Given the description of an element on the screen output the (x, y) to click on. 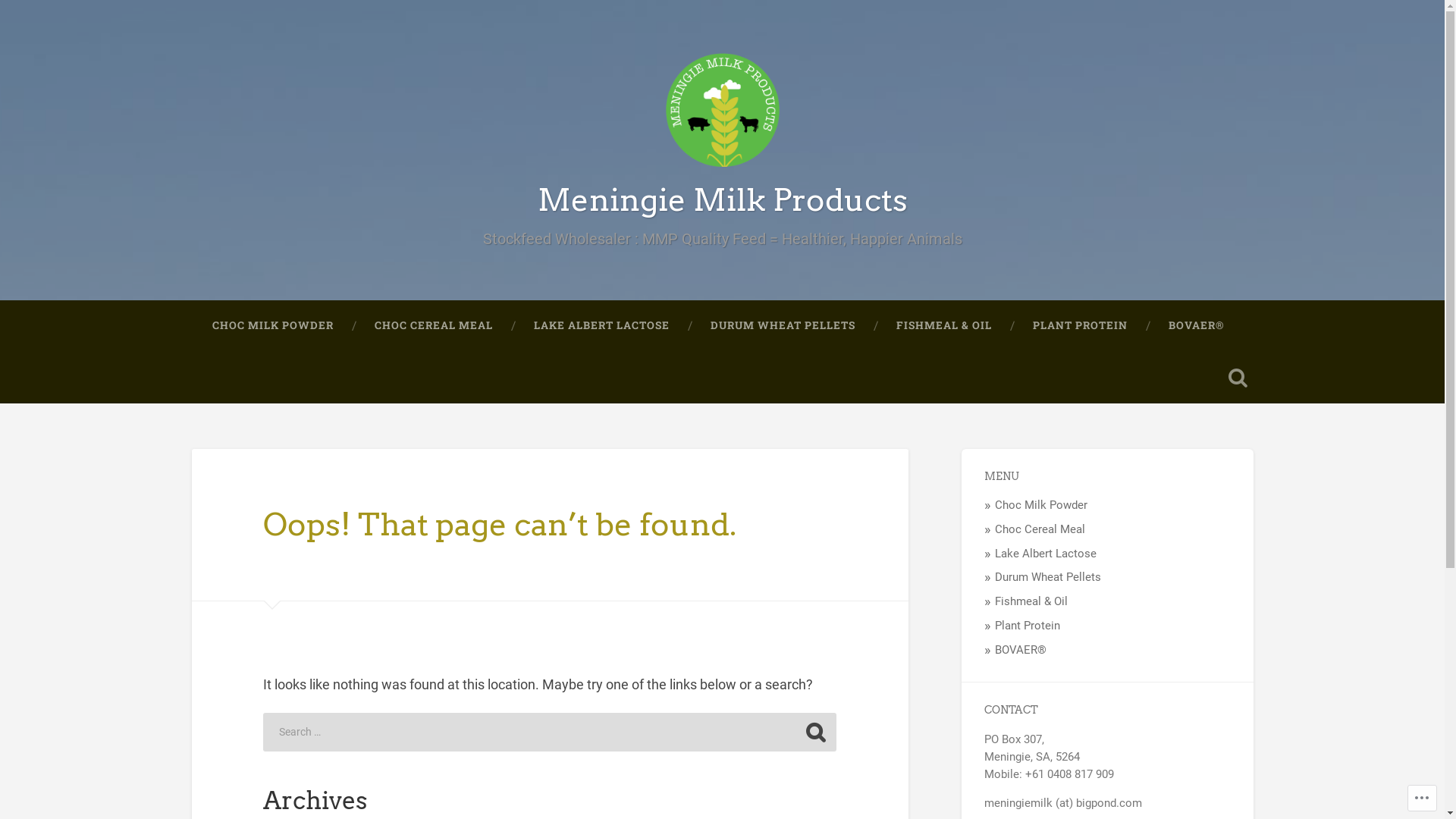
Lake Albert Lactose Element type: text (1045, 553)
DURUM WHEAT PELLETS Element type: text (782, 325)
Meningie Milk Products Element type: text (721, 199)
LAKE ALBERT LACTOSE Element type: text (600, 325)
Search Element type: text (814, 731)
Plant Protein Element type: text (1027, 625)
FISHMEAL & OIL Element type: text (943, 325)
Fishmeal & Oil Element type: text (1030, 601)
CHOC MILK POWDER Element type: text (272, 325)
CHOC CEREAL MEAL Element type: text (432, 325)
Durum Wheat Pellets Element type: text (1047, 576)
Choc Cereal Meal Element type: text (1039, 529)
PLANT PROTEIN Element type: text (1079, 325)
Open Search Element type: text (1237, 377)
Choc Milk Powder Element type: text (1040, 504)
